Given the description of an element on the screen output the (x, y) to click on. 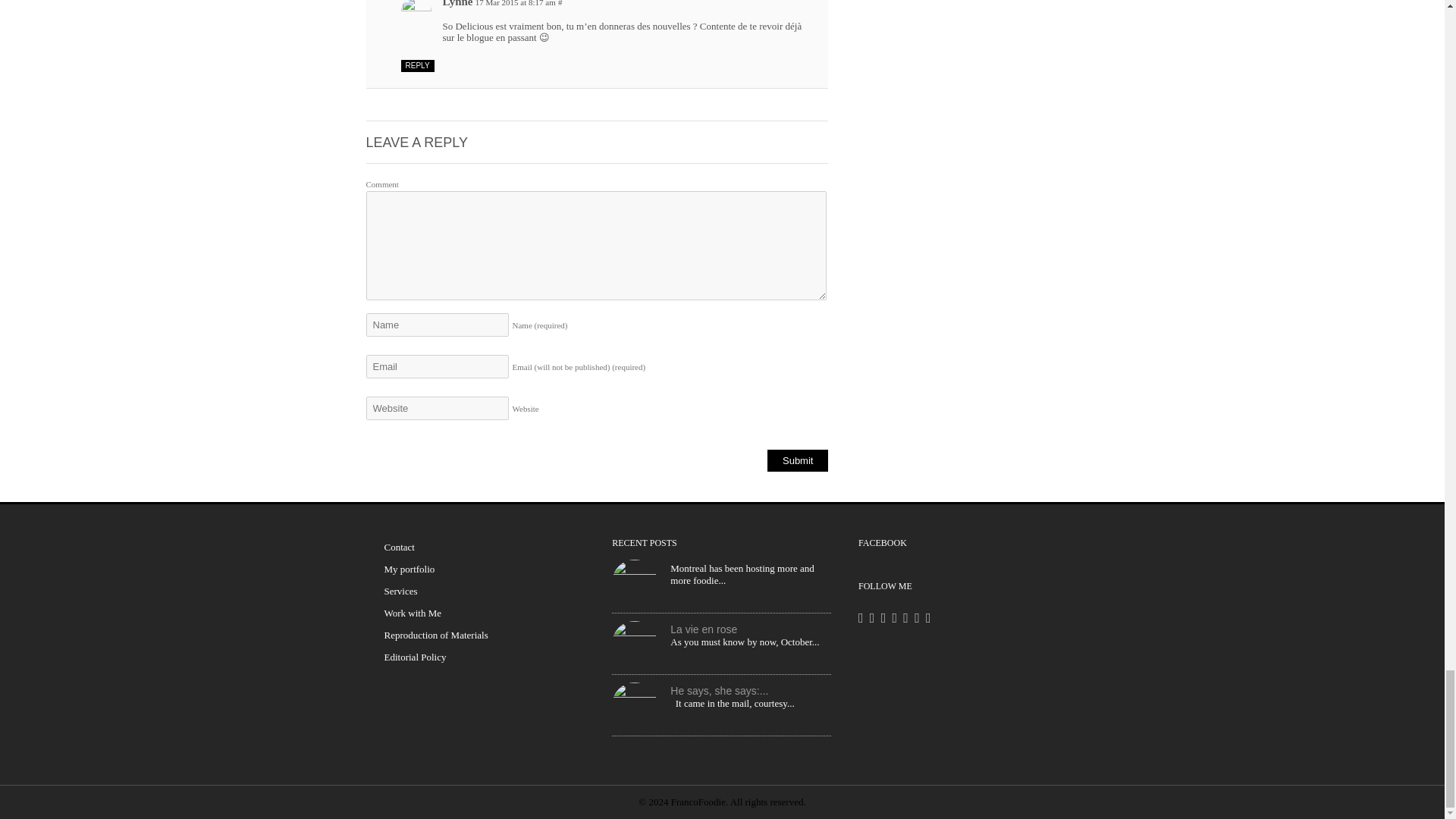
Submit (797, 460)
